Given the description of an element on the screen output the (x, y) to click on. 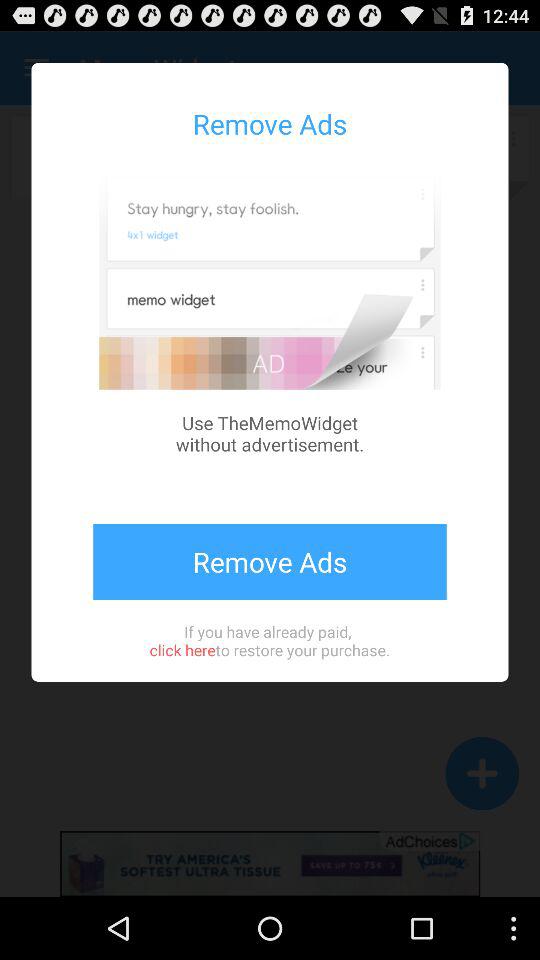
launch the icon at the bottom (269, 640)
